Given the description of an element on the screen output the (x, y) to click on. 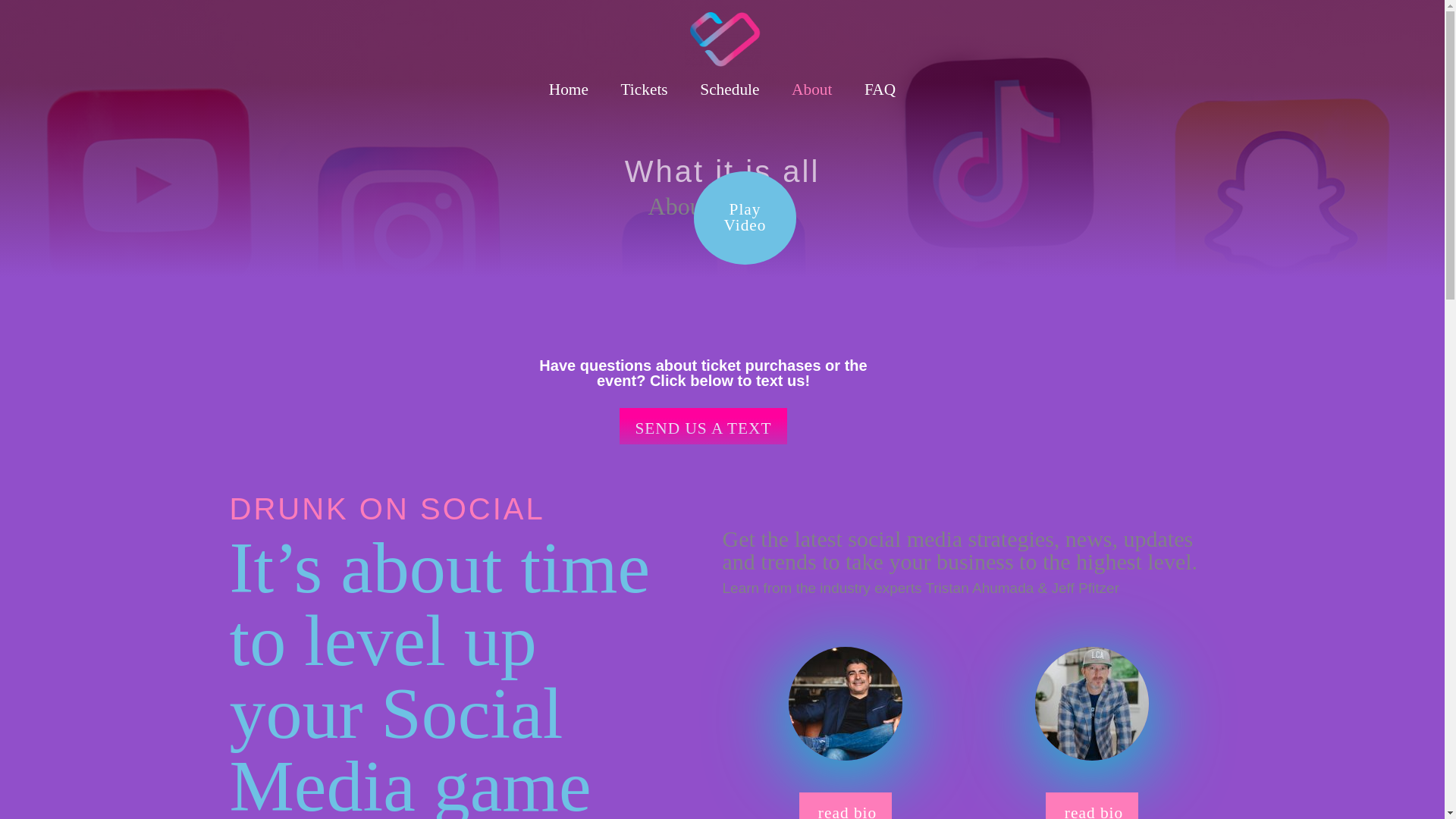
Schedule (730, 89)
Home (568, 89)
read bio (845, 805)
read bio (745, 217)
SEND US A TEXT (1091, 805)
Tickets (703, 425)
About (644, 89)
FAQ (812, 89)
